Given the description of an element on the screen output the (x, y) to click on. 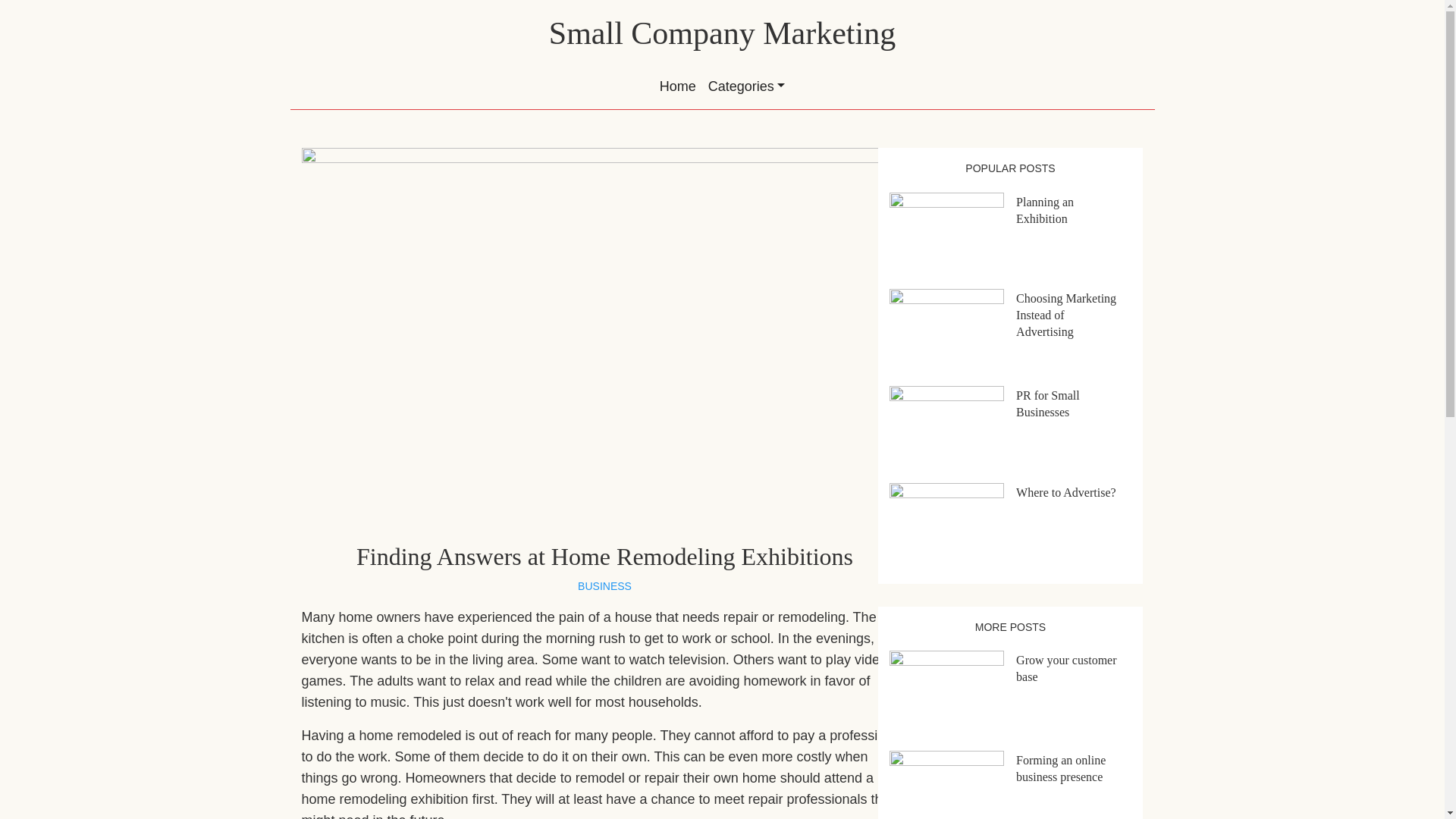
Where to Advertise? (1066, 492)
Choosing Marketing Instead of Advertising (1066, 314)
PR for Small Businesses (1048, 403)
Planning an Exhibition (1045, 210)
BUSINESS (604, 585)
Grow your customer base (1066, 668)
Categories (746, 86)
Home (677, 86)
Small Company Marketing (721, 33)
Forming an online business presence (1060, 767)
